Given the description of an element on the screen output the (x, y) to click on. 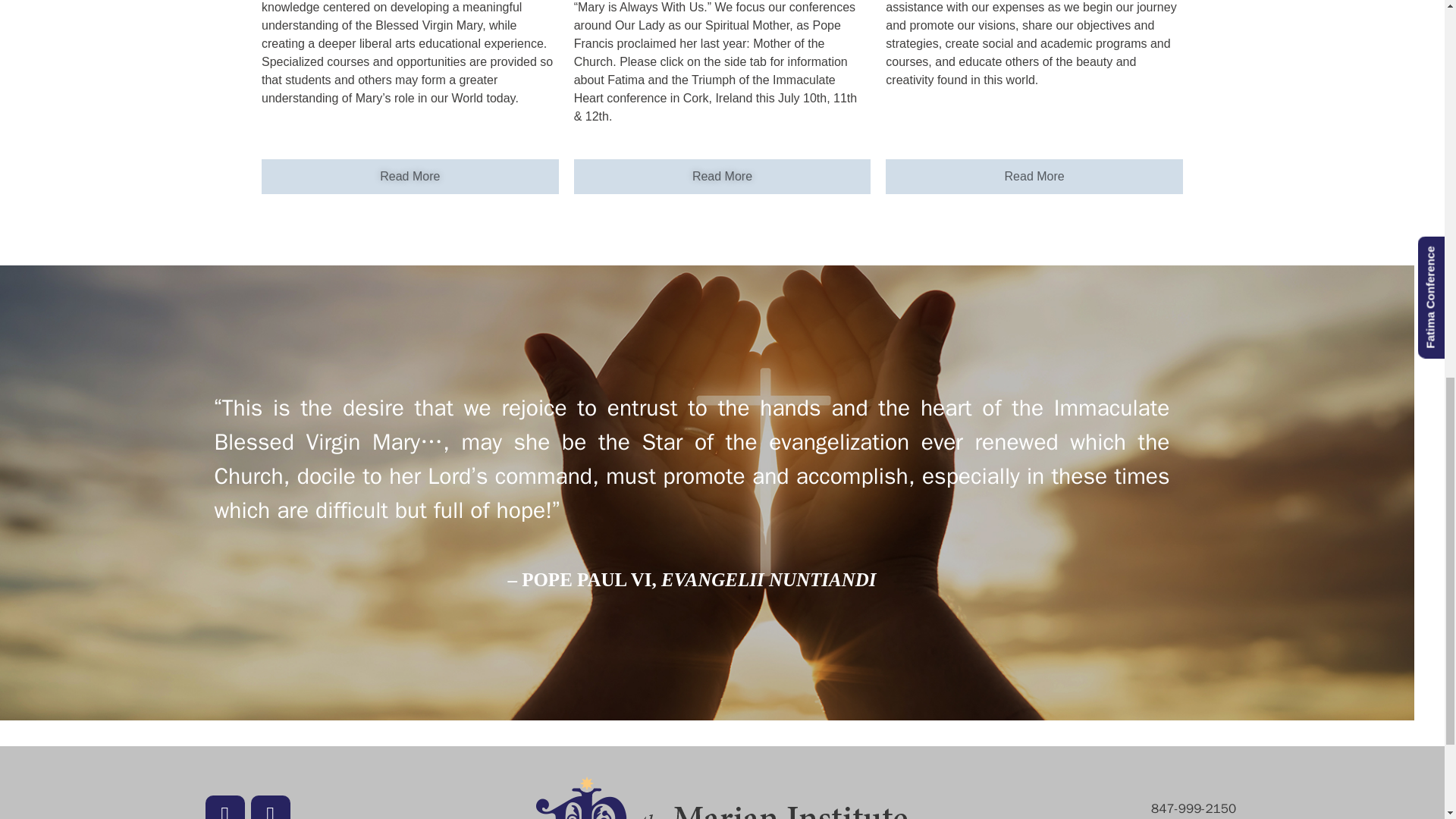
Facebook (224, 807)
Read More (410, 176)
Instagram (269, 807)
Scroll back to top (1406, 720)
Read More (1033, 176)
Read More (721, 176)
